Given the description of an element on the screen output the (x, y) to click on. 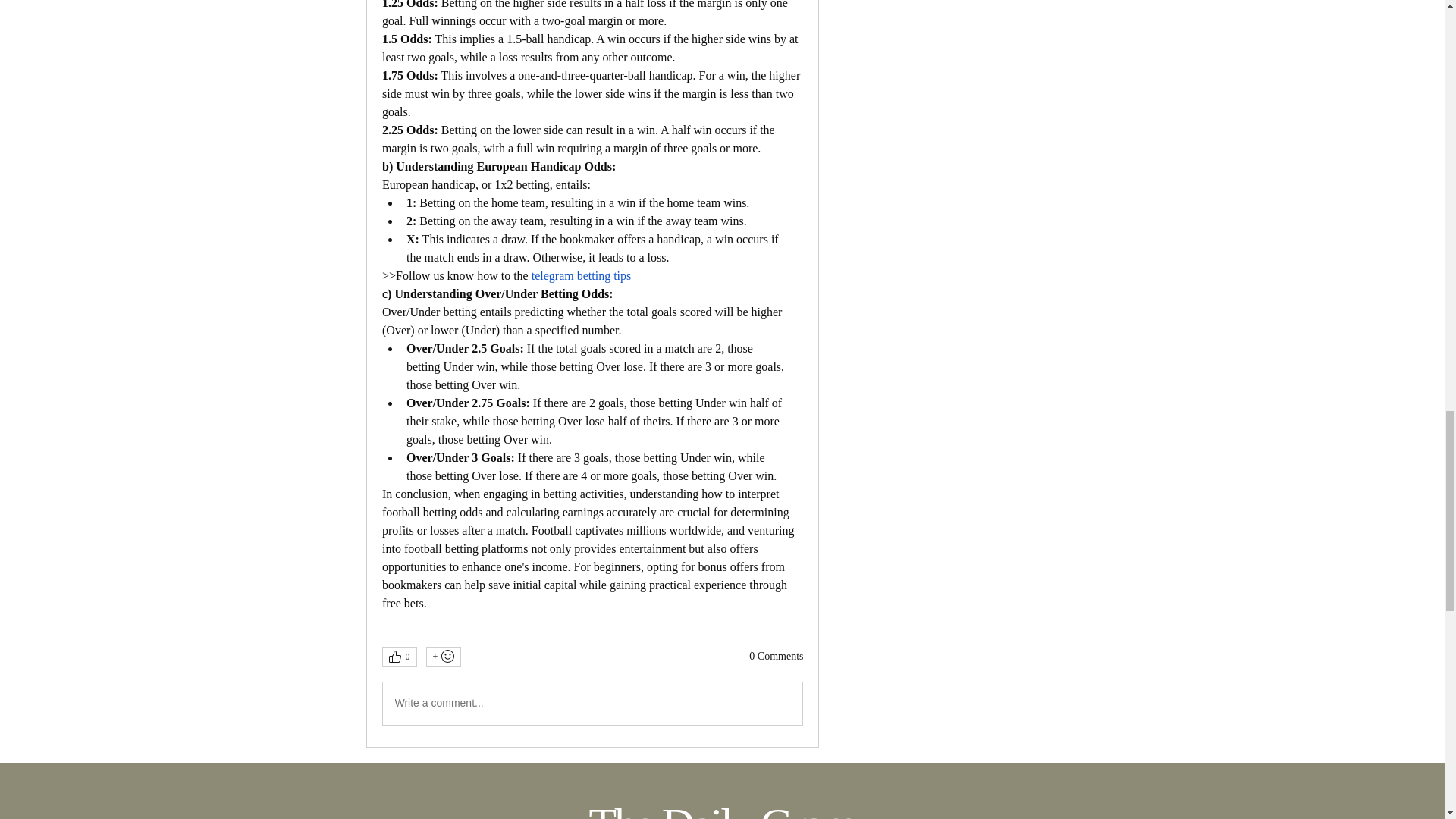
0 Comments (776, 656)
telegram betting tips (580, 276)
Write a comment... (591, 703)
